Given the description of an element on the screen output the (x, y) to click on. 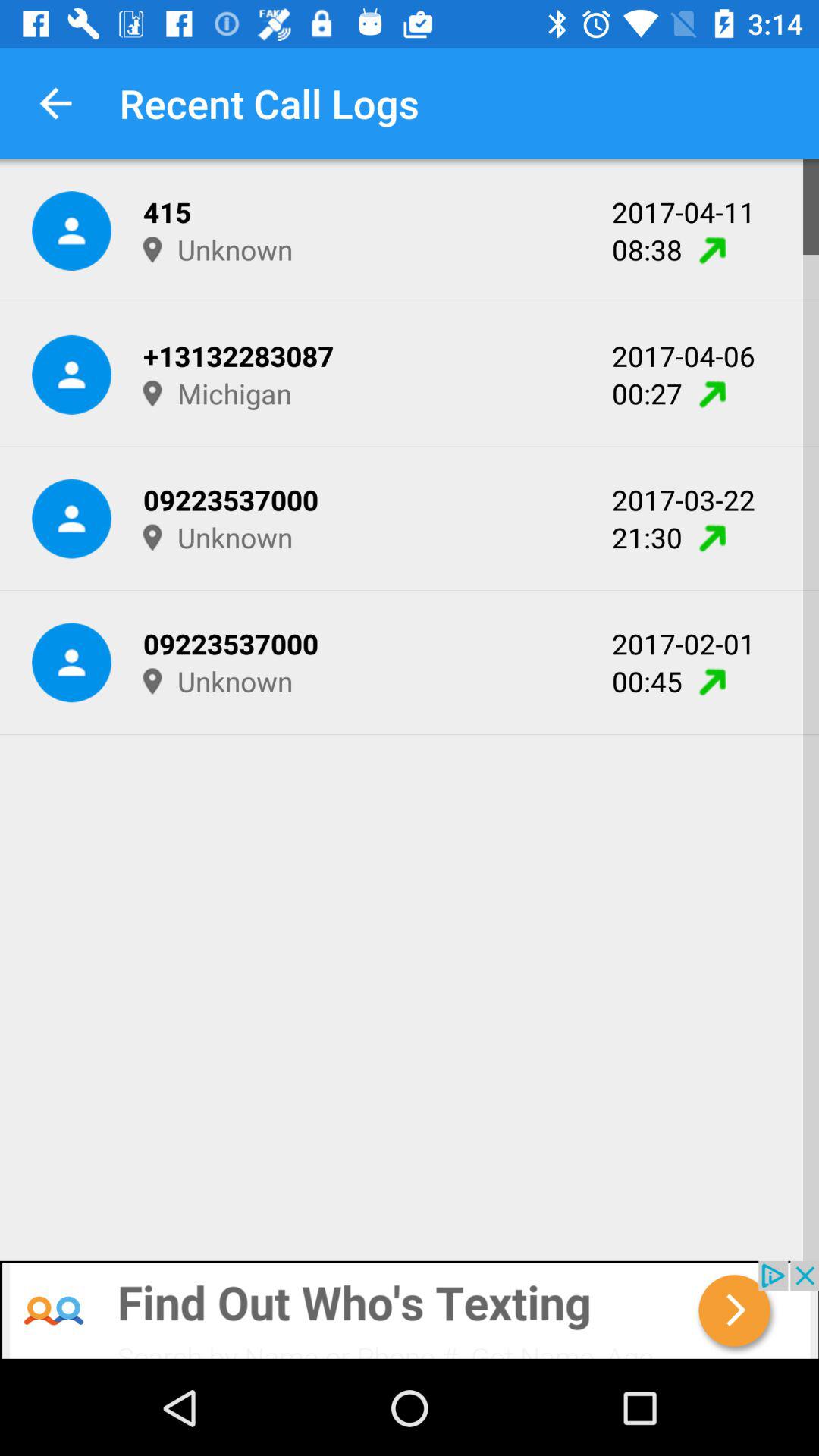
advertisement (409, 1310)
